Given the description of an element on the screen output the (x, y) to click on. 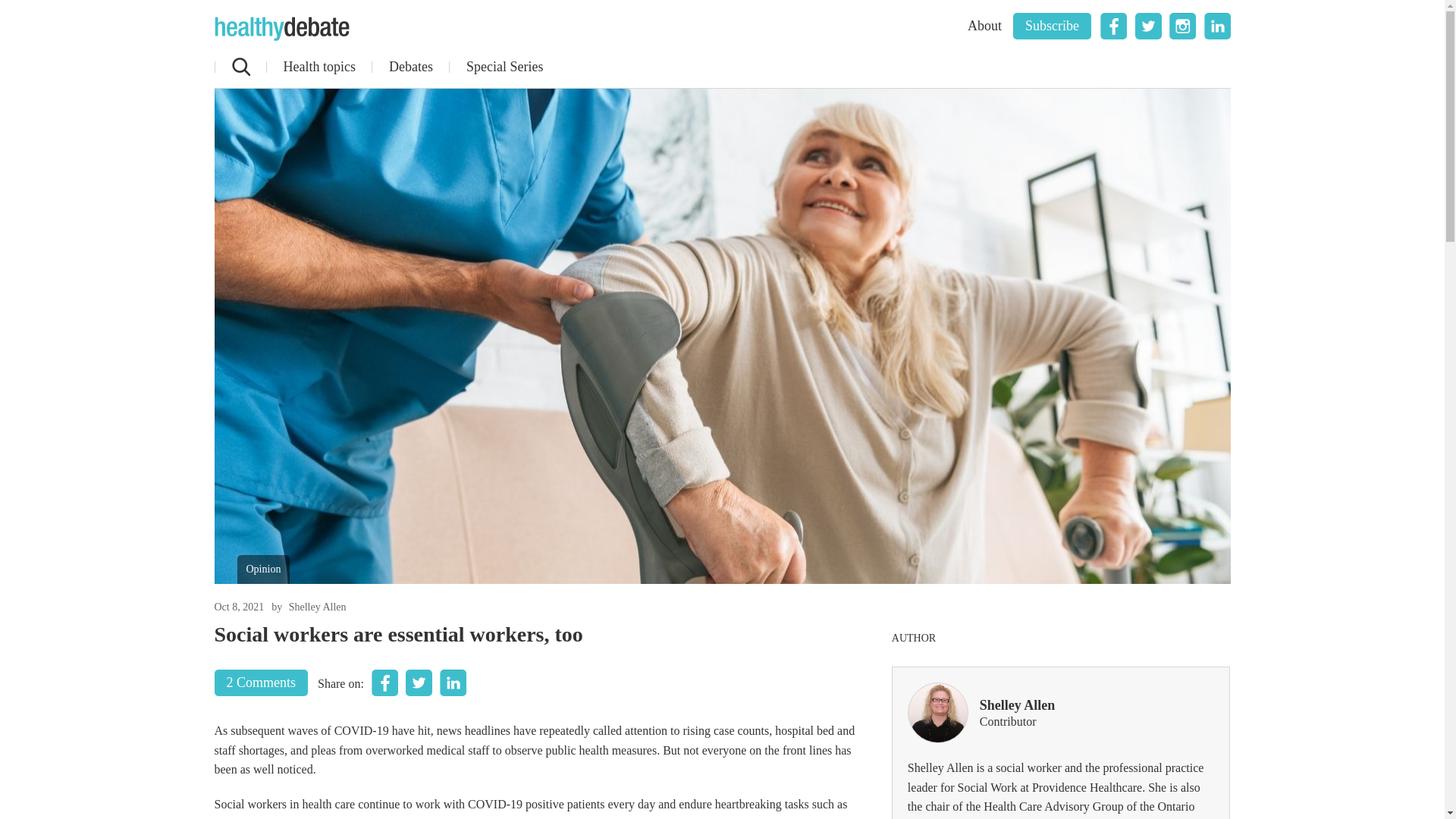
Shelley Allen (317, 606)
Subscribe (1051, 26)
2 Comments (260, 682)
Health topics (318, 67)
About (984, 25)
Special Series (504, 67)
Healthy Debate (281, 28)
Healthy Debate (281, 28)
Debates (410, 67)
